Given the description of an element on the screen output the (x, y) to click on. 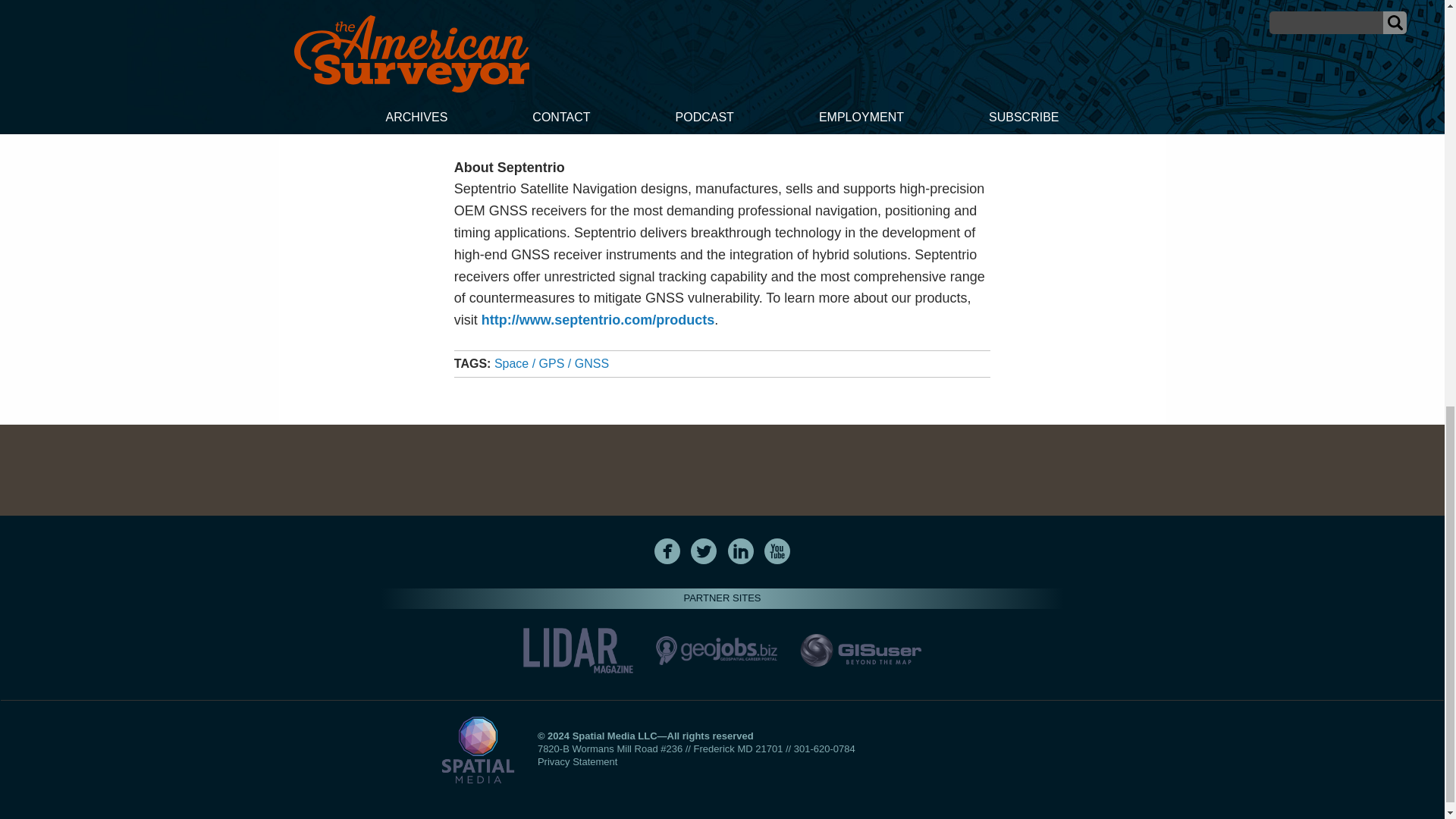
icon-sm-youtube (776, 551)
icon-sm-twitter (703, 551)
3rd party ad content (721, 469)
icon-sm-linkedin (740, 551)
icon-sm-fb (666, 551)
Privacy Statement (577, 761)
icon-sm-youtube (777, 551)
icon-sm-linkedin (741, 551)
icon-sm-twitter (703, 551)
icon-sm-fb (667, 551)
